Given the description of an element on the screen output the (x, y) to click on. 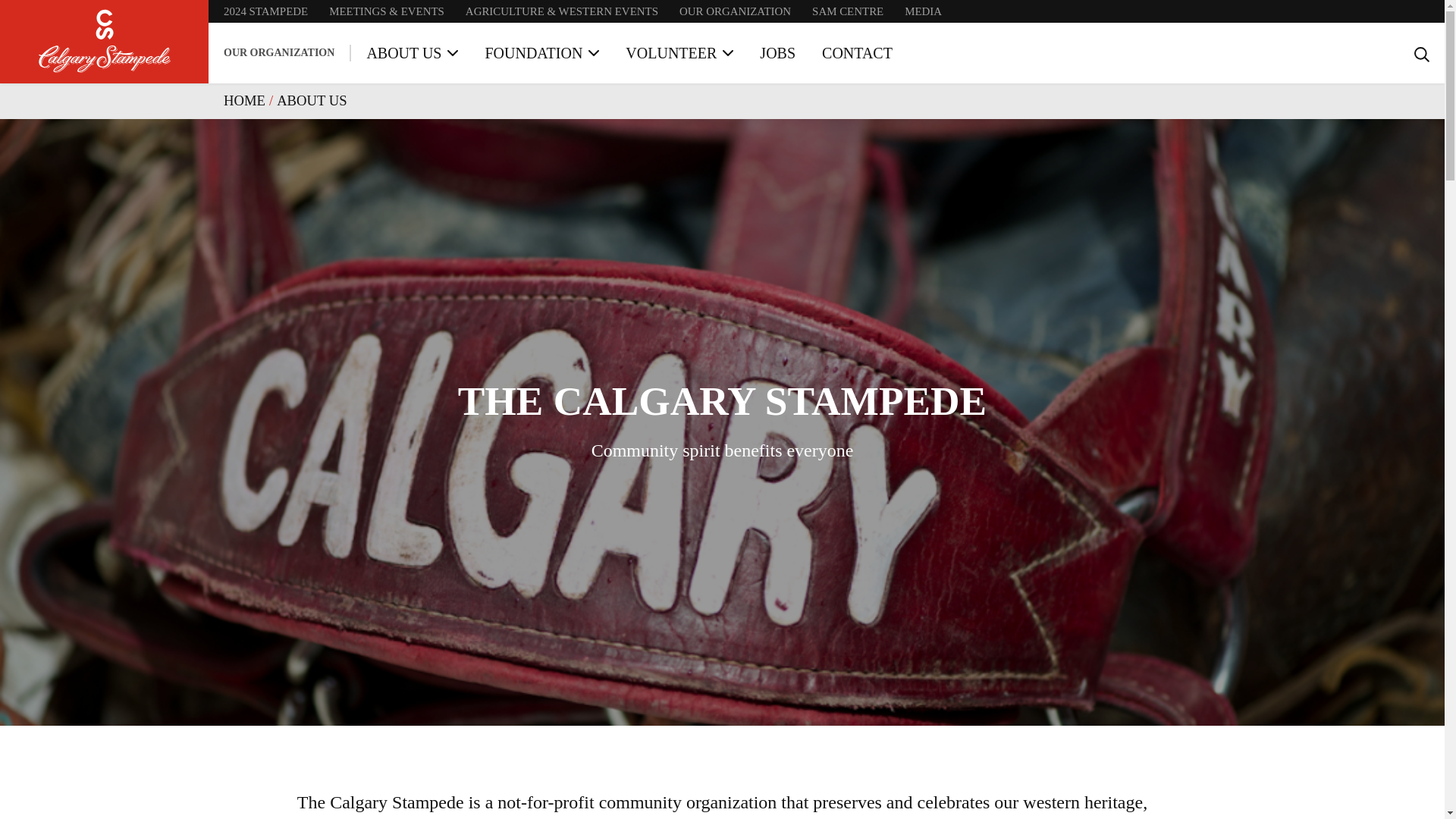
FOUNDATION (541, 52)
SAM CENTRE (847, 11)
MEDIA (923, 11)
Safety (237, 17)
ABOUT US (412, 52)
2024 STAMPEDE (265, 11)
OUR ORGANIZATION (734, 11)
